Given the description of an element on the screen output the (x, y) to click on. 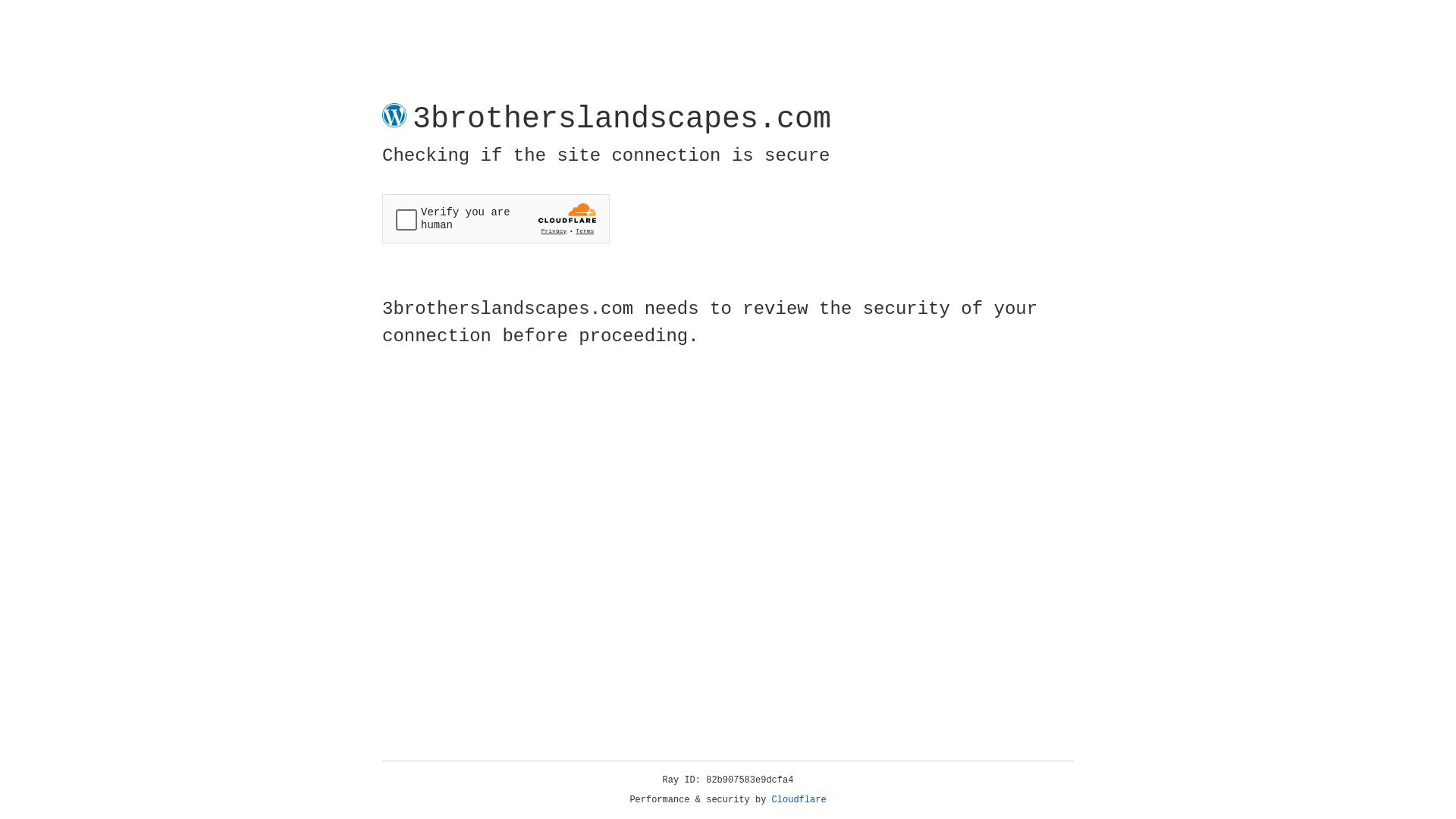
Widget containing a Cloudflare security challenge Element type: hover (495, 218)
Cloudflare Element type: text (798, 799)
